Given the description of an element on the screen output the (x, y) to click on. 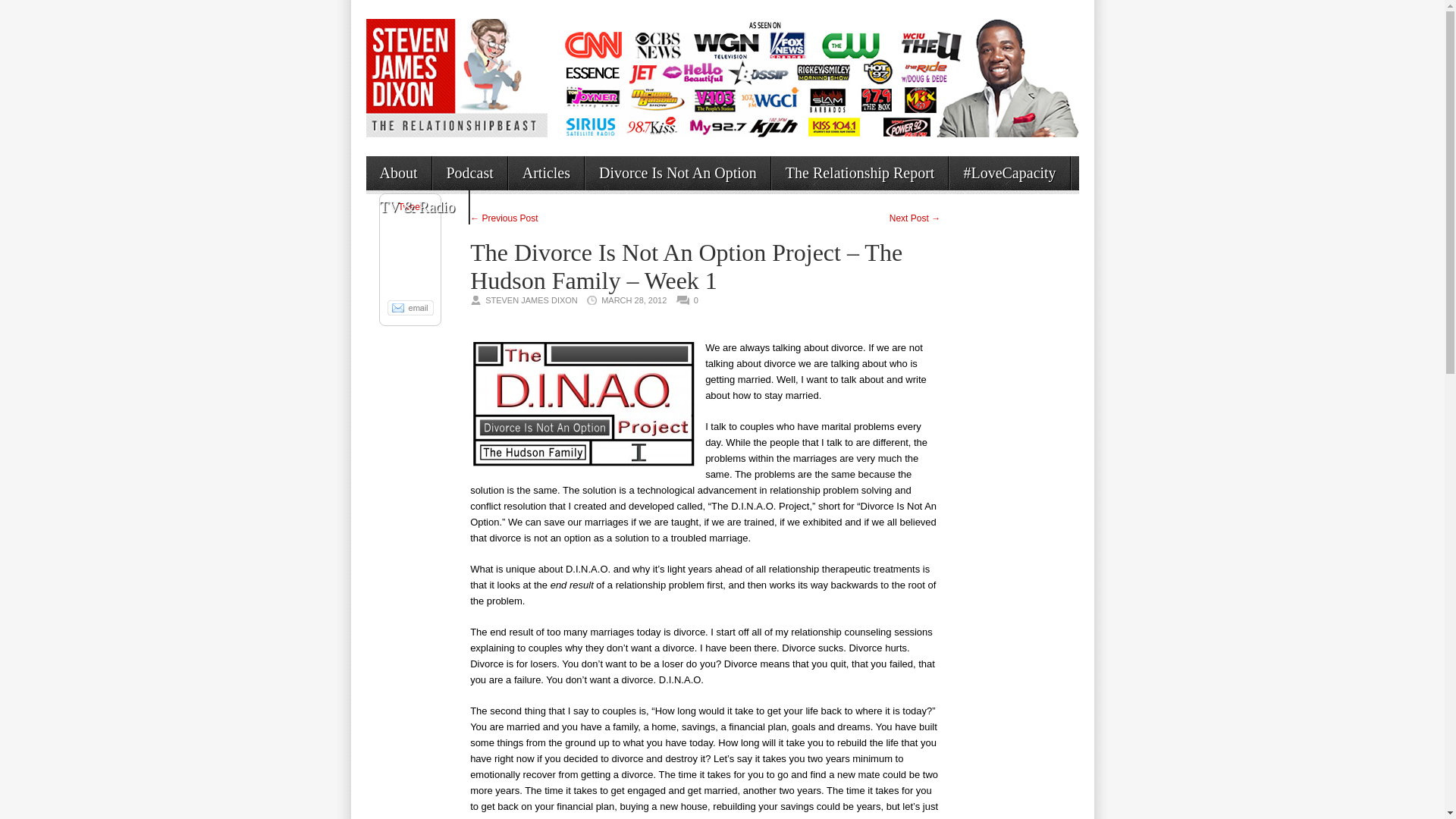
Articles (545, 172)
About (397, 172)
Tweet (409, 206)
Podcast (469, 172)
The Relationship Report (860, 172)
Share on Tumblr (410, 282)
Divorce Is Not An Option (677, 172)
Share on Tumblr (410, 282)
DINAO LOGO1 (583, 404)
